Given the description of an element on the screen output the (x, y) to click on. 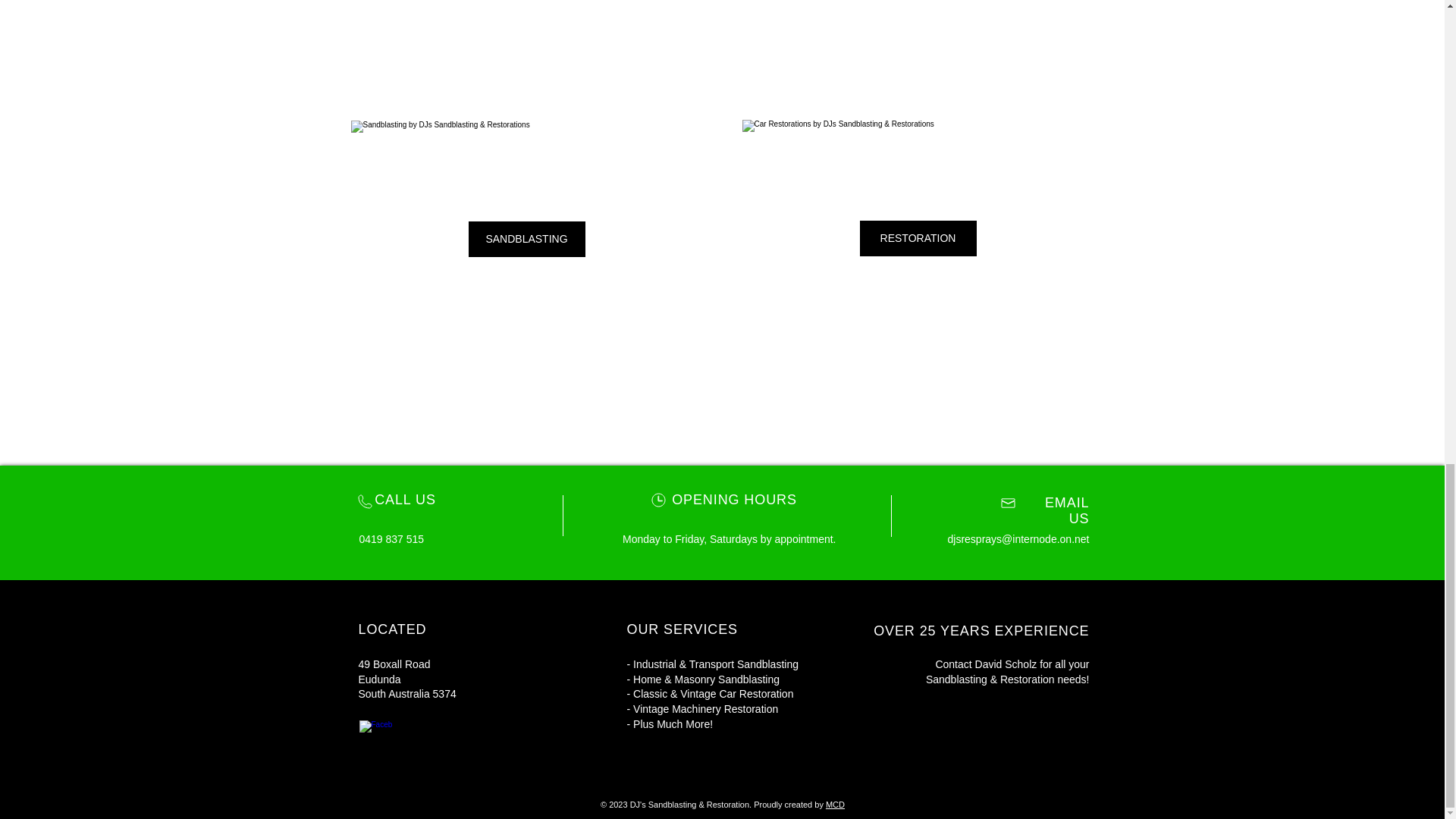
RESTORATION (918, 238)
0419 837 515 (392, 539)
SANDBLASTING (526, 239)
MCD (834, 804)
